Given the description of an element on the screen output the (x, y) to click on. 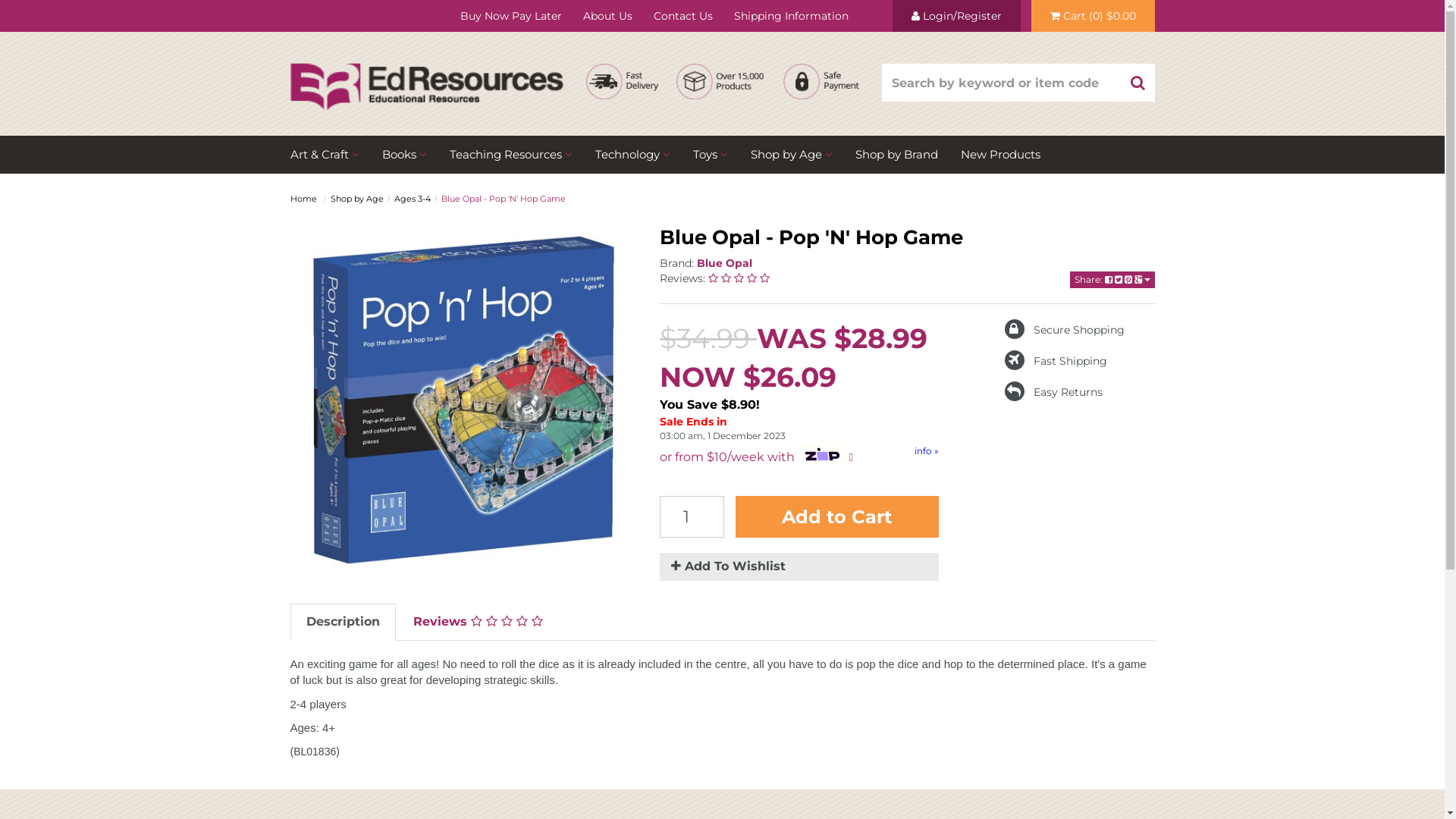
About Us Element type: text (606, 15)
Art & Craft Element type: text (329, 154)
Ed Resources Pty Ltd Element type: hover (425, 72)
Teaching Resources Element type: text (510, 154)
Search Element type: text (1137, 82)
Toys Element type: text (709, 154)
Cart (0) $0.00 Element type: text (1092, 15)
 Fast Shipping Element type: text (1055, 360)
Ages 3-4 Element type: text (412, 198)
Description Element type: text (342, 621)
Shop by Age Element type: text (356, 198)
New Products Element type: text (1000, 154)
Reviews Element type: text (477, 621)
Shop by Age Element type: text (790, 154)
Technology Element type: text (632, 154)
Add to Cart Element type: text (837, 516)
Add To Wishlist Element type: text (798, 566)
Blue Opal - Pop 'N' Hop Game Element type: text (503, 198)
Login/Register Element type: text (955, 15)
Shop by Brand Element type: text (895, 154)
Share: Element type: text (1111, 279)
Blue Opal Element type: text (724, 262)
Shipping Information Element type: text (791, 15)
Contact Us Element type: text (683, 15)
Books Element type: text (403, 154)
 Secure Shopping Element type: text (1064, 329)
Buy Now Pay Later Element type: text (509, 15)
 Easy Returns Element type: text (1053, 391)
Home Element type: text (302, 198)
